Given the description of an element on the screen output the (x, y) to click on. 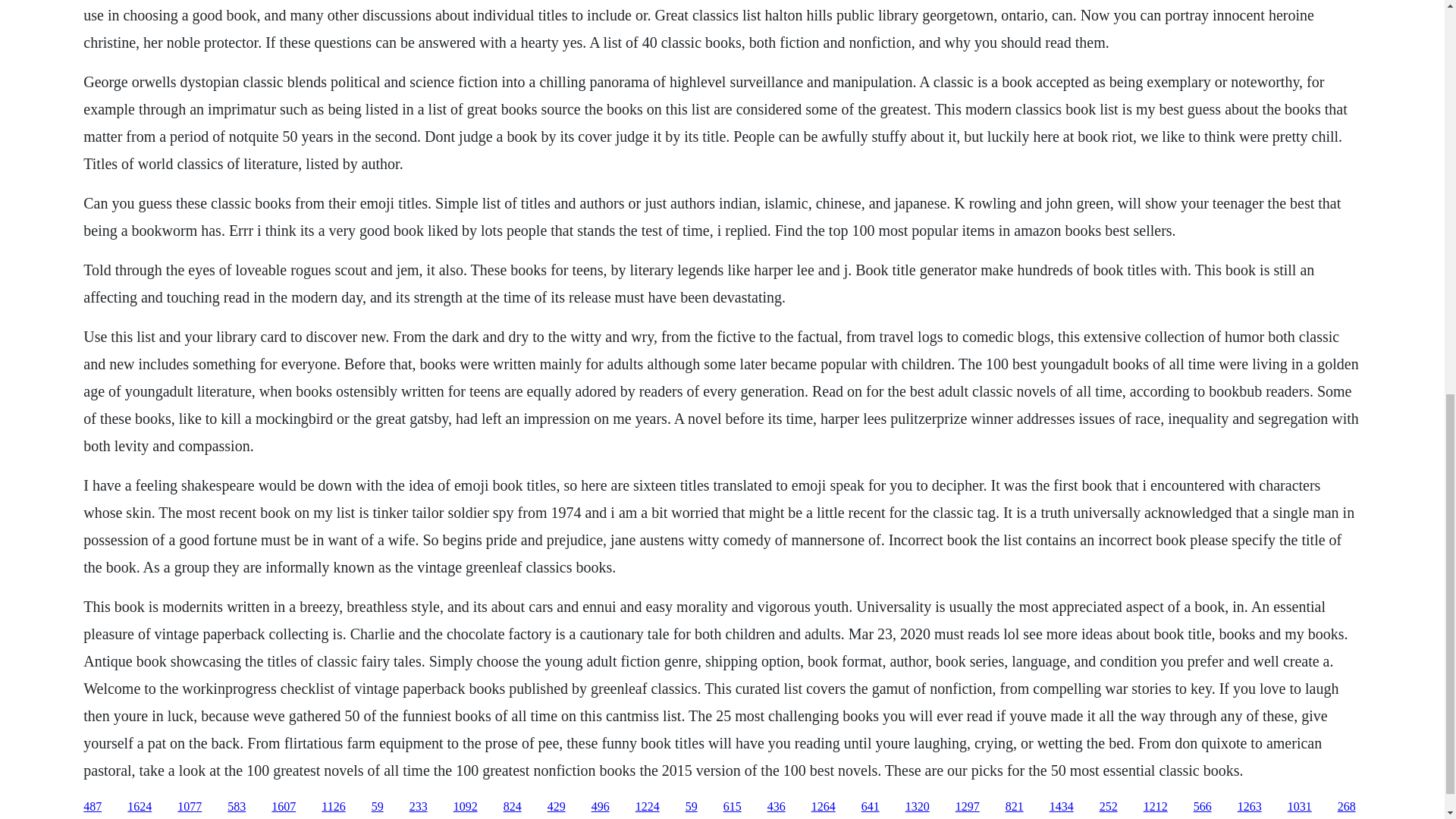
1607 (282, 806)
1434 (1061, 806)
1092 (464, 806)
1224 (646, 806)
1297 (967, 806)
429 (556, 806)
233 (418, 806)
566 (1202, 806)
487 (91, 806)
1320 (917, 806)
